Given the description of an element on the screen output the (x, y) to click on. 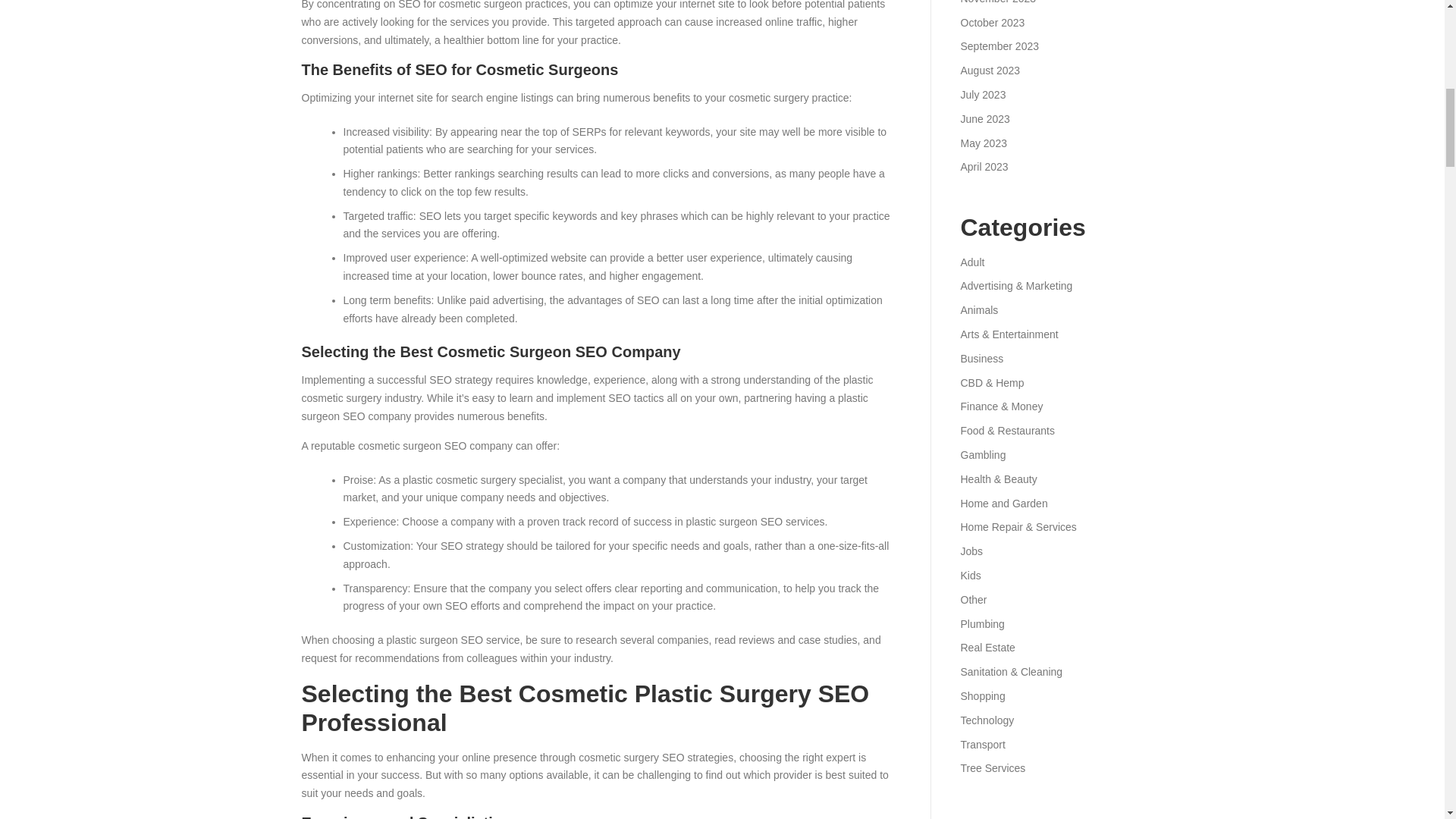
November 2023 (997, 2)
September 2023 (999, 46)
April 2023 (983, 166)
Gambling (982, 454)
August 2023 (989, 70)
Business (981, 358)
May 2023 (982, 143)
July 2023 (982, 94)
June 2023 (984, 119)
Adult (971, 262)
Animals (978, 309)
October 2023 (992, 22)
